Given the description of an element on the screen output the (x, y) to click on. 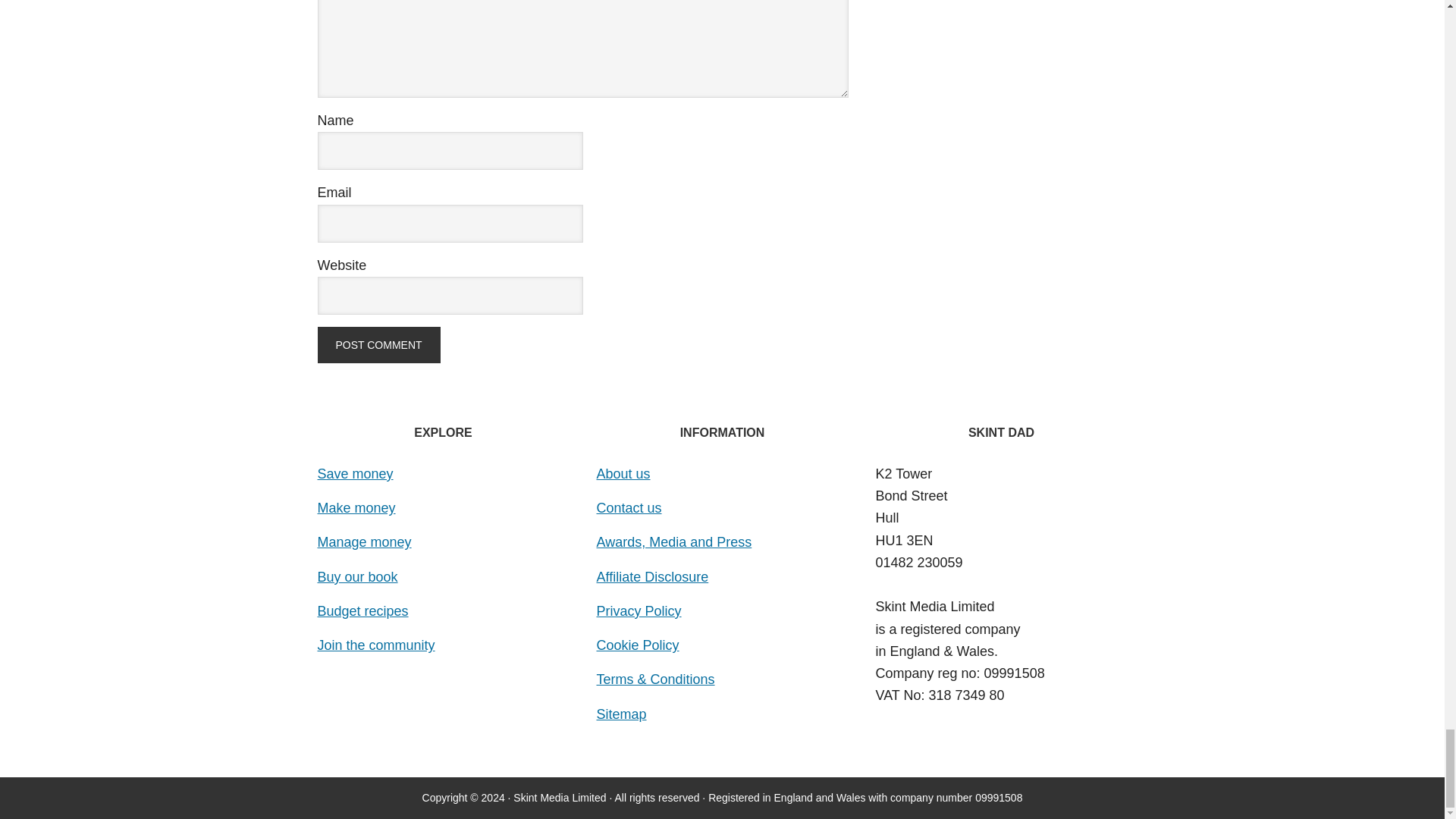
Post Comment (378, 344)
